Given the description of an element on the screen output the (x, y) to click on. 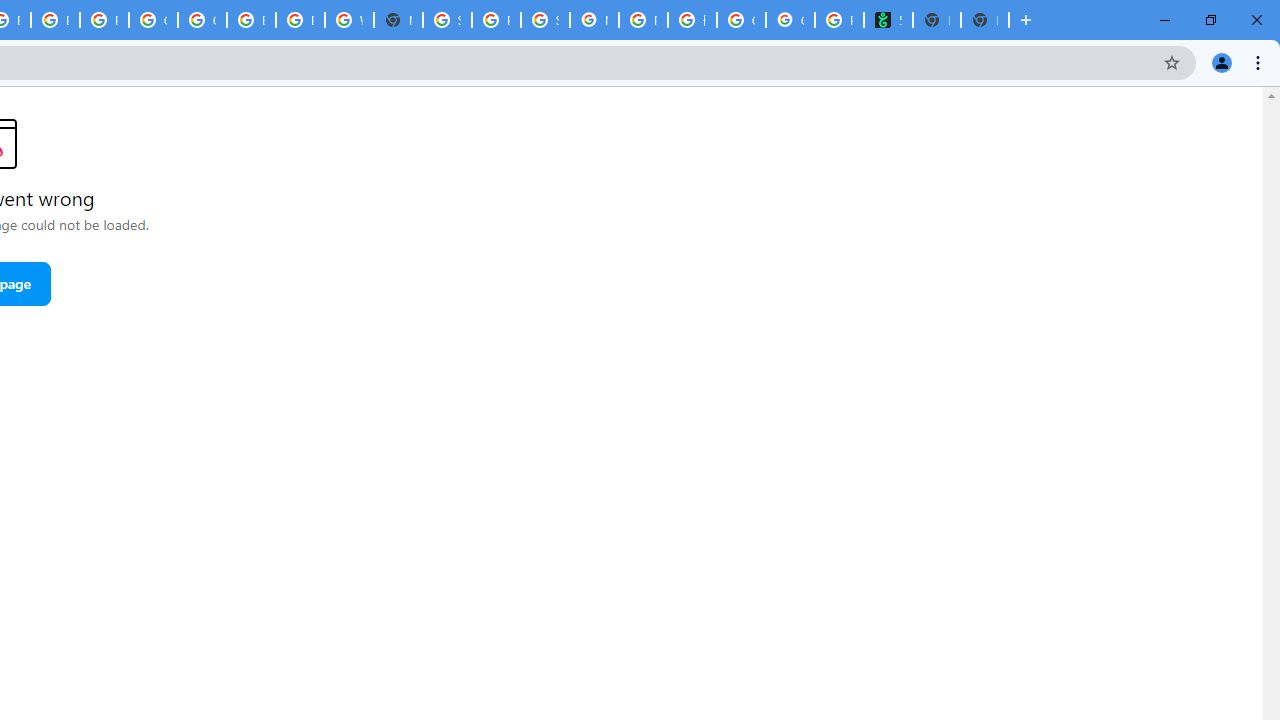
Google Cloud Platform (201, 20)
New Tab (398, 20)
New Tab (984, 20)
